Given the description of an element on the screen output the (x, y) to click on. 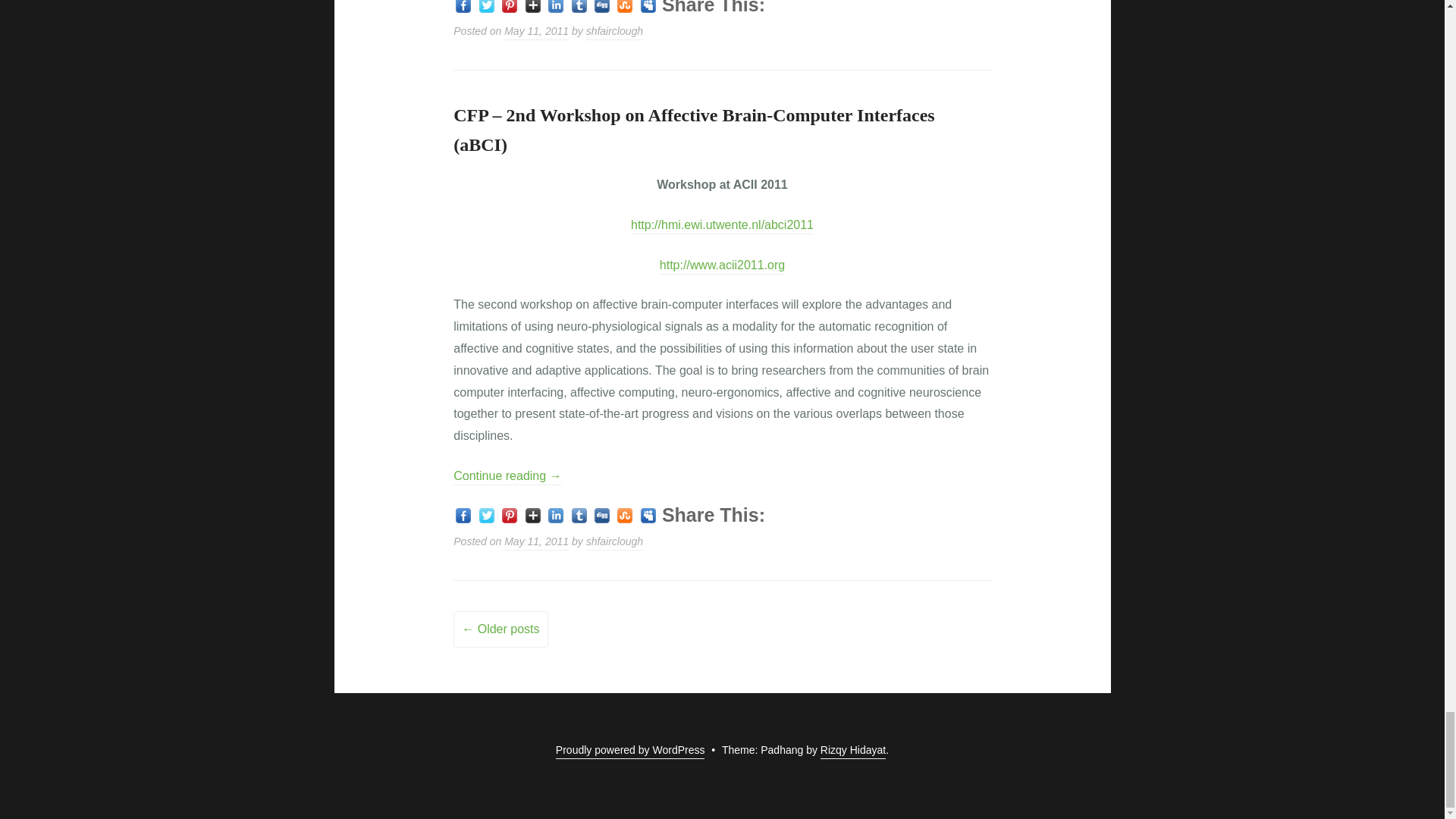
Published on: May 11, 2011 (536, 542)
aBCI Workshop Website (721, 226)
Published on: May 11, 2011 (536, 32)
